Given the description of an element on the screen output the (x, y) to click on. 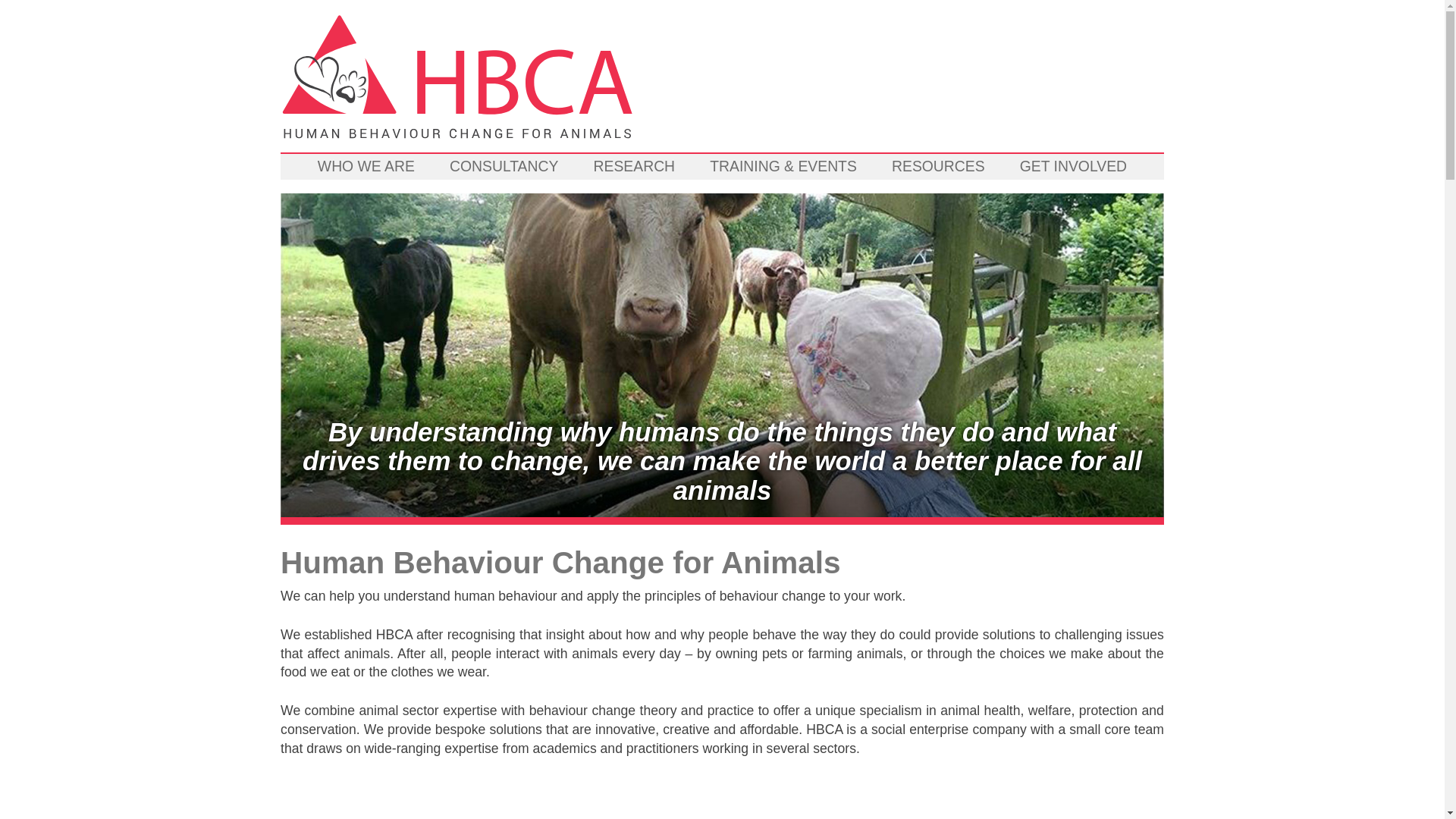
RESEARCH (633, 166)
RESOURCES (937, 166)
WHO WE ARE (365, 166)
CONSULTANCY (503, 166)
GET INVOLVED (1073, 166)
